Given the description of an element on the screen output the (x, y) to click on. 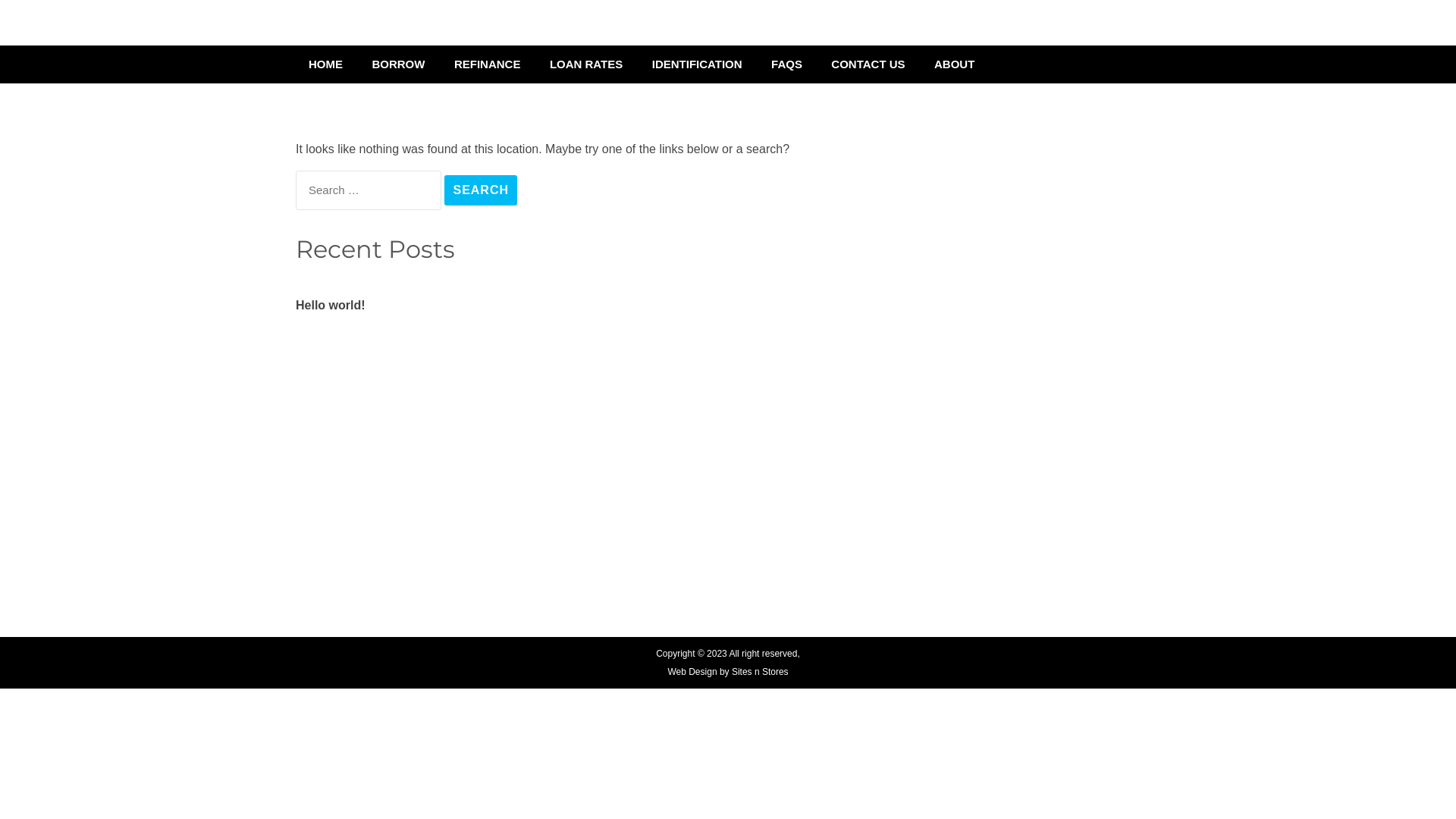
EziCash Element type: text (340, 33)
ABOUT Element type: text (954, 64)
Search Element type: text (480, 190)
CONTACT US Element type: text (867, 64)
IDENTIFICATION Element type: text (697, 64)
BORROW Element type: text (397, 64)
Hello world! Element type: text (330, 305)
LOAN RATES Element type: text (585, 64)
REFINANCE Element type: text (487, 64)
HOME Element type: text (325, 64)
FAQS Element type: text (786, 64)
